Given the description of an element on the screen output the (x, y) to click on. 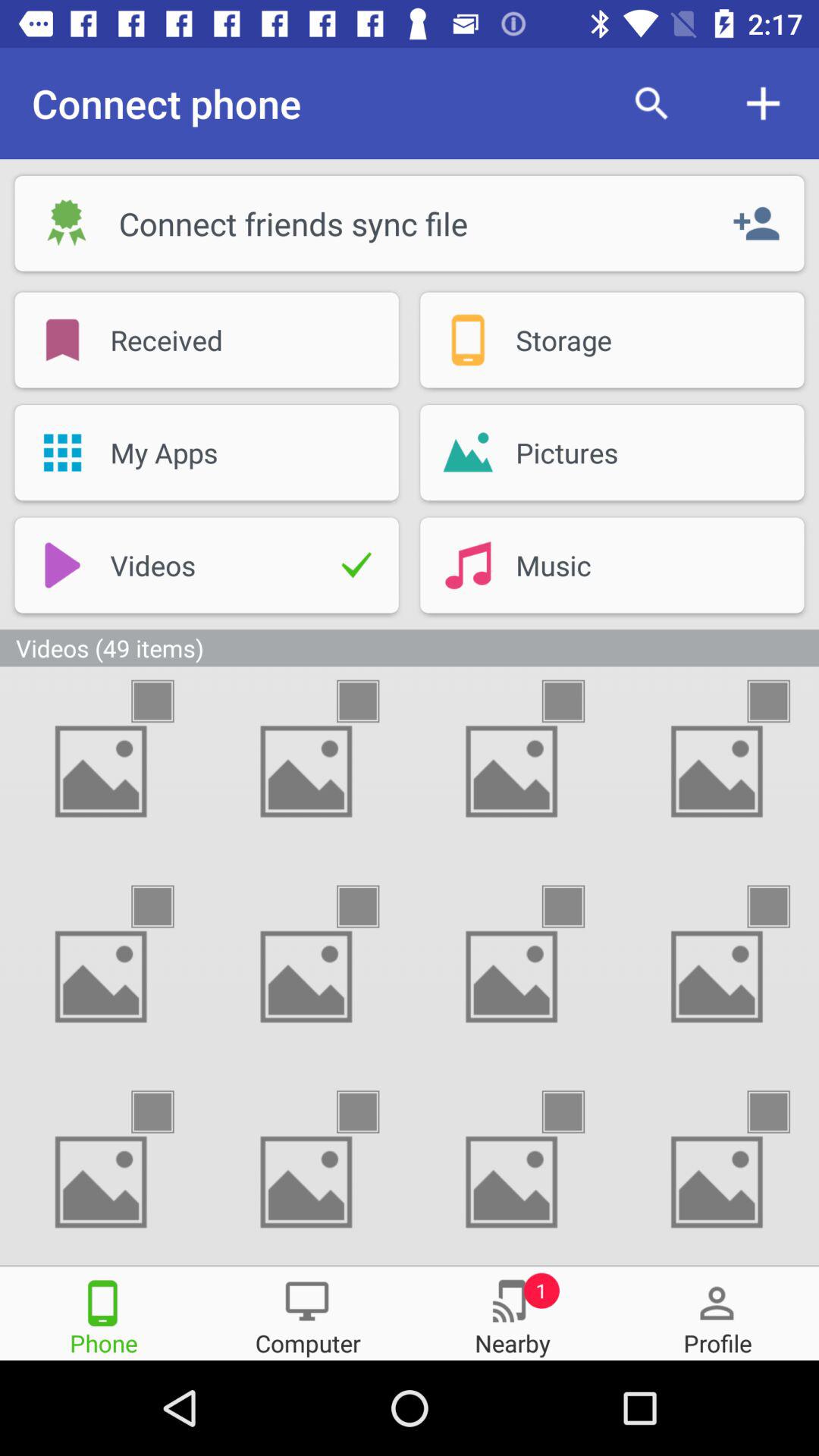
to select one picture (371, 700)
